Given the description of an element on the screen output the (x, y) to click on. 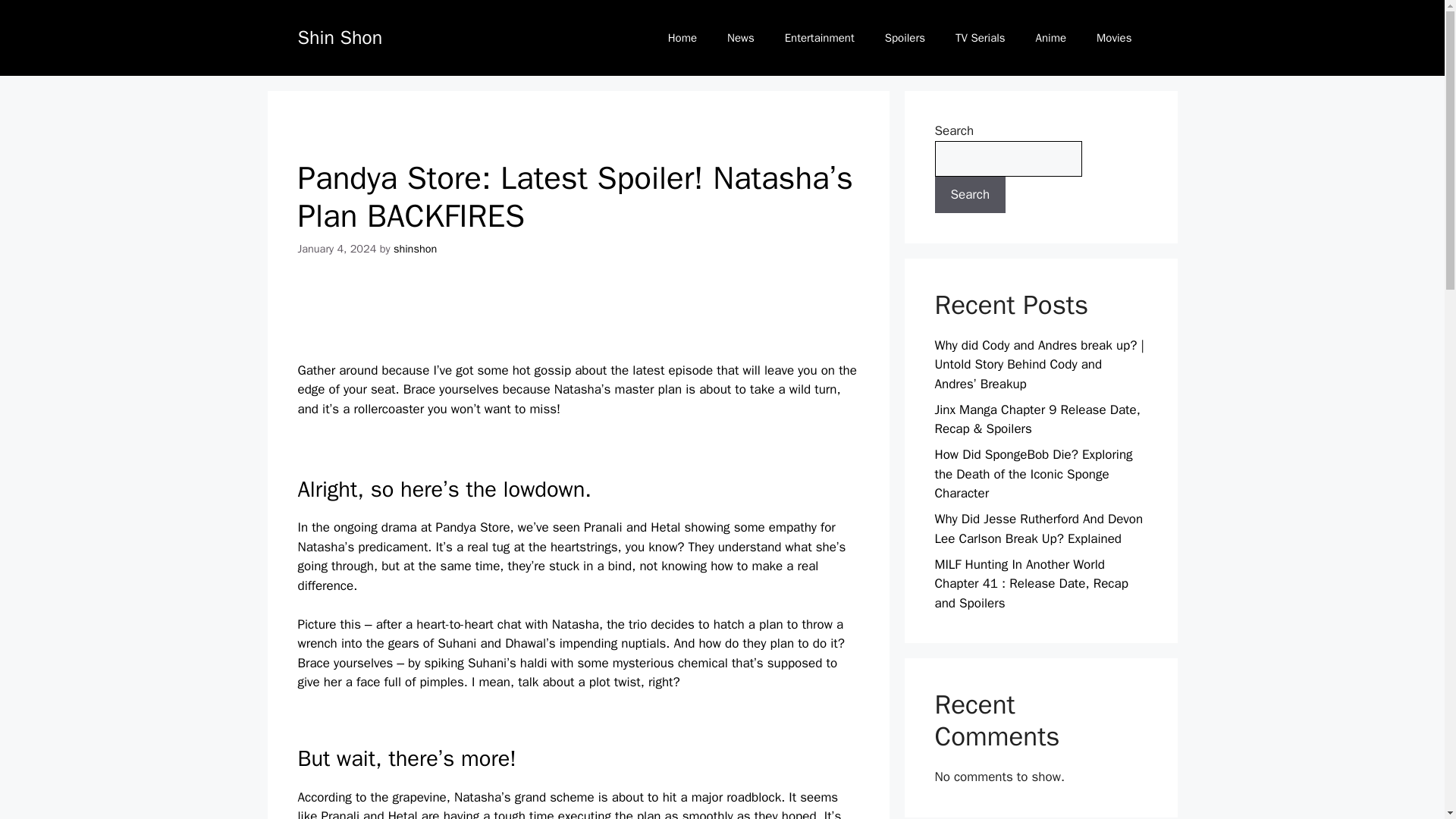
News (740, 37)
TV Serials (980, 37)
Entertainment (819, 37)
View all posts by shinshon (414, 248)
Home (681, 37)
Anime (1050, 37)
Shin Shon (339, 37)
Search (970, 194)
Movies (1114, 37)
